Given the description of an element on the screen output the (x, y) to click on. 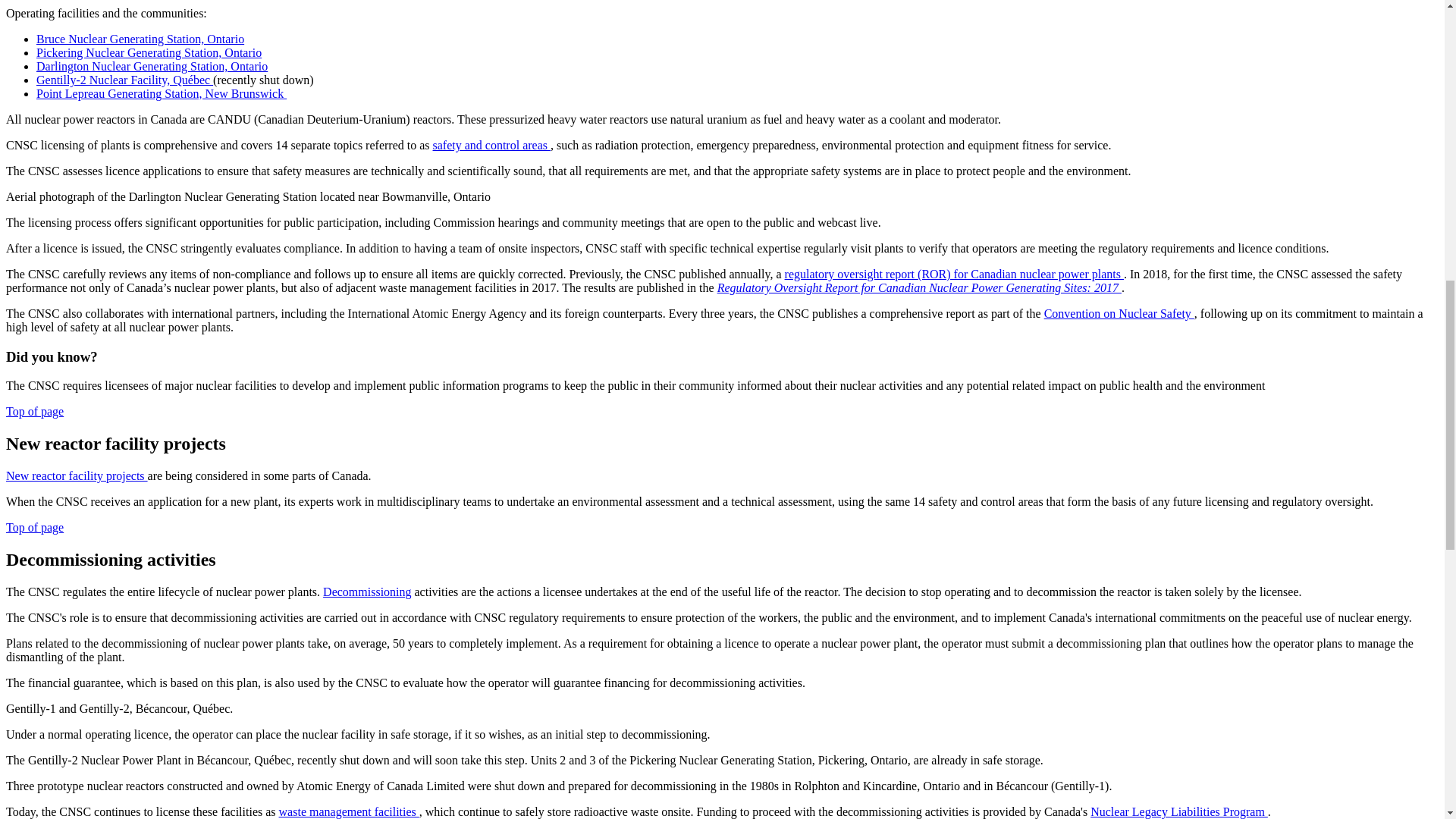
Bruce Nuclear Generating Station, Ontario (140, 38)
safety and control areas (491, 144)
Point Lepreau Generating Station, New Brunswick (161, 92)
New reactor facility projects (76, 475)
Top of page (34, 526)
Darlington Nuclear Generating Station, Ontario (151, 65)
Convention on Nuclear Safety (1118, 313)
Pickering Nuclear Generating Station, Ontario (149, 51)
Top of page (34, 410)
